Given the description of an element on the screen output the (x, y) to click on. 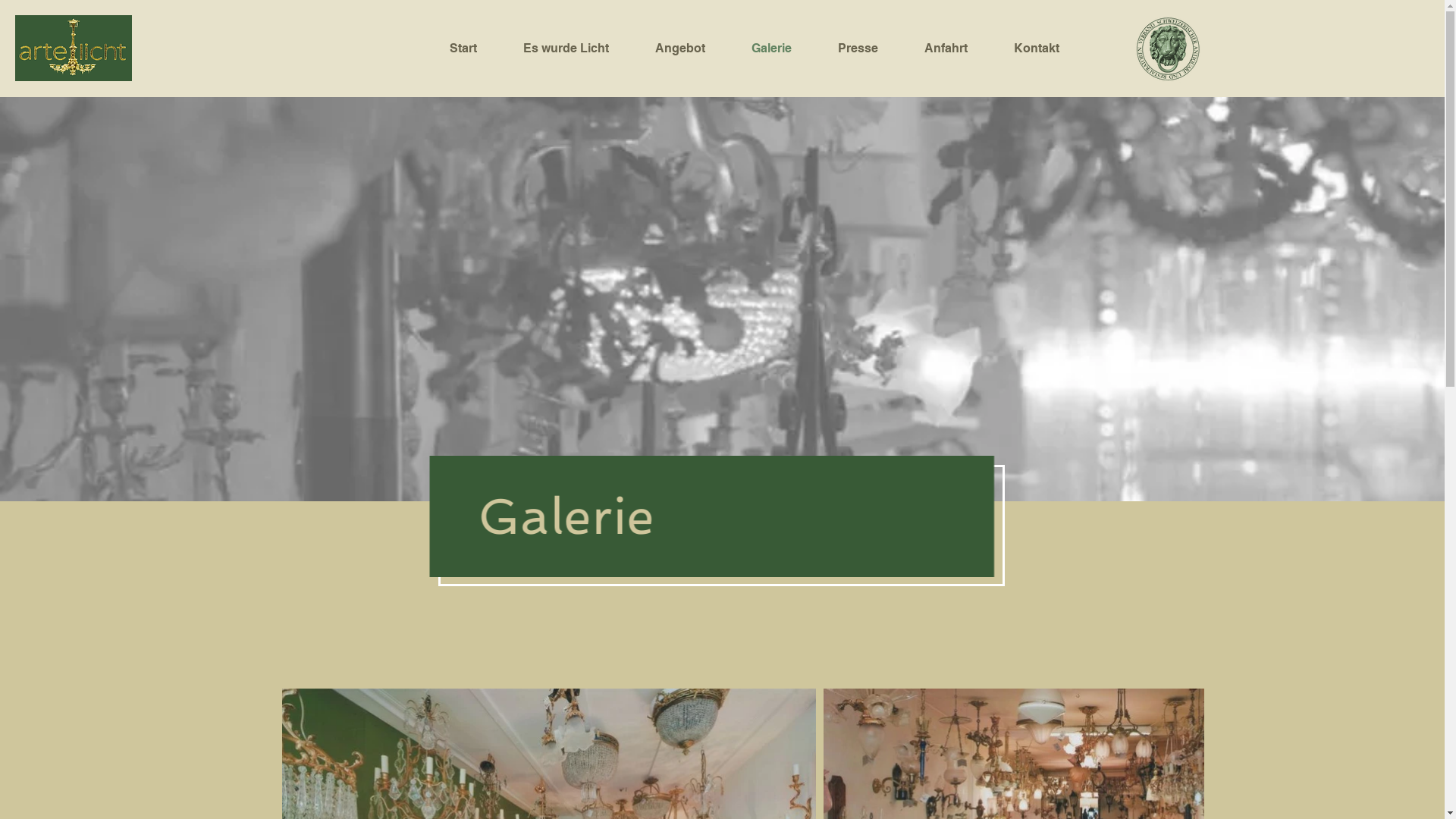
Presse Element type: text (869, 48)
Anfahrt Element type: text (957, 48)
Es wurde Licht Element type: text (577, 48)
Galerie Element type: text (783, 48)
Kontakt Element type: text (1048, 48)
Start Element type: text (474, 48)
Angebot Element type: text (691, 48)
